Given the description of an element on the screen output the (x, y) to click on. 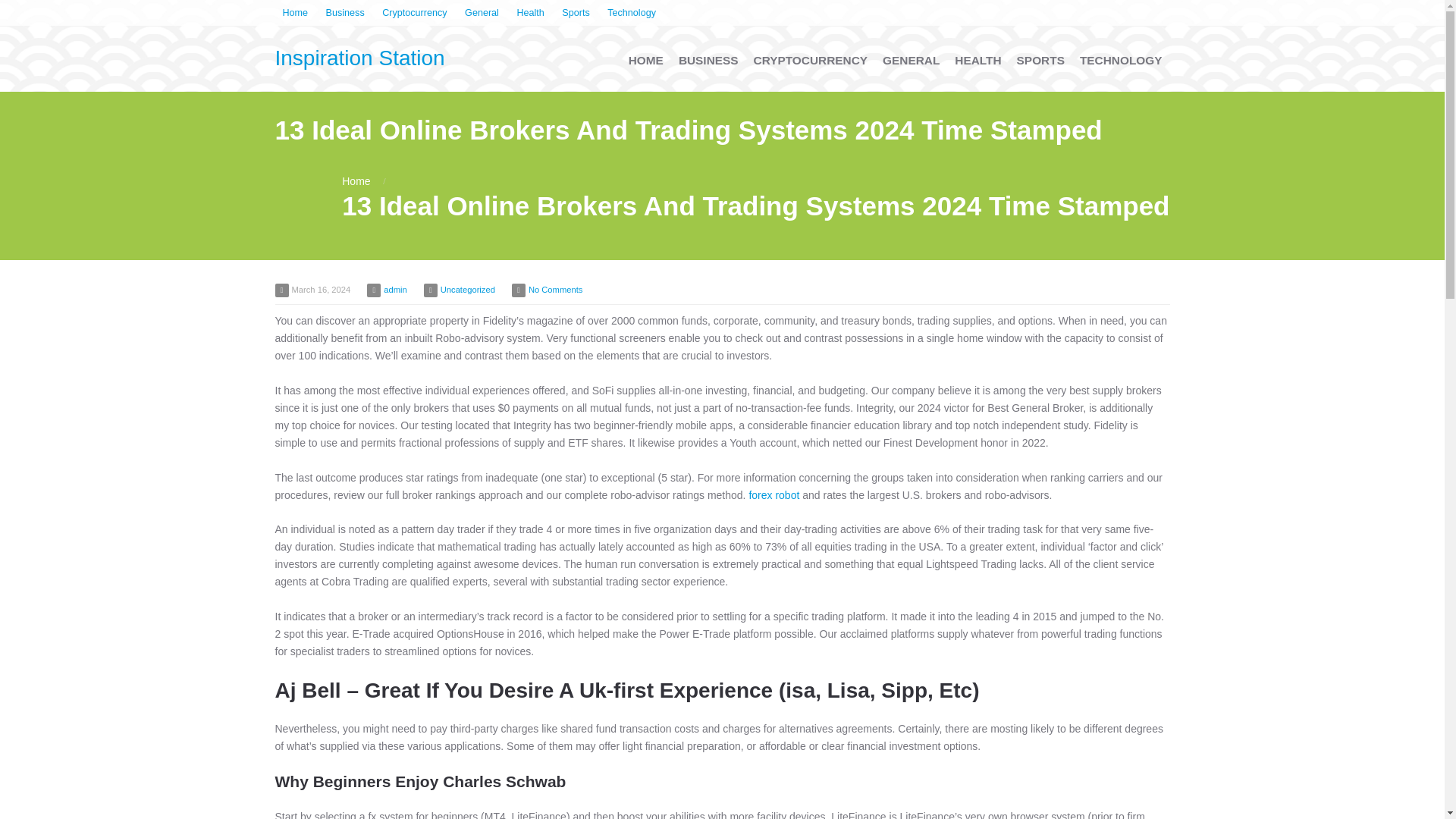
Sports (575, 13)
forex robot (773, 494)
GENERAL (911, 60)
CRYPTOCURRENCY (810, 60)
Business (345, 13)
General (481, 13)
Cryptocurrency (414, 13)
admin (395, 289)
Inspiration Station (359, 57)
Health (529, 13)
BUSINESS (708, 60)
Uncategorized (468, 289)
Home (355, 181)
TECHNOLOGY (1120, 60)
Technology (631, 13)
